Given the description of an element on the screen output the (x, y) to click on. 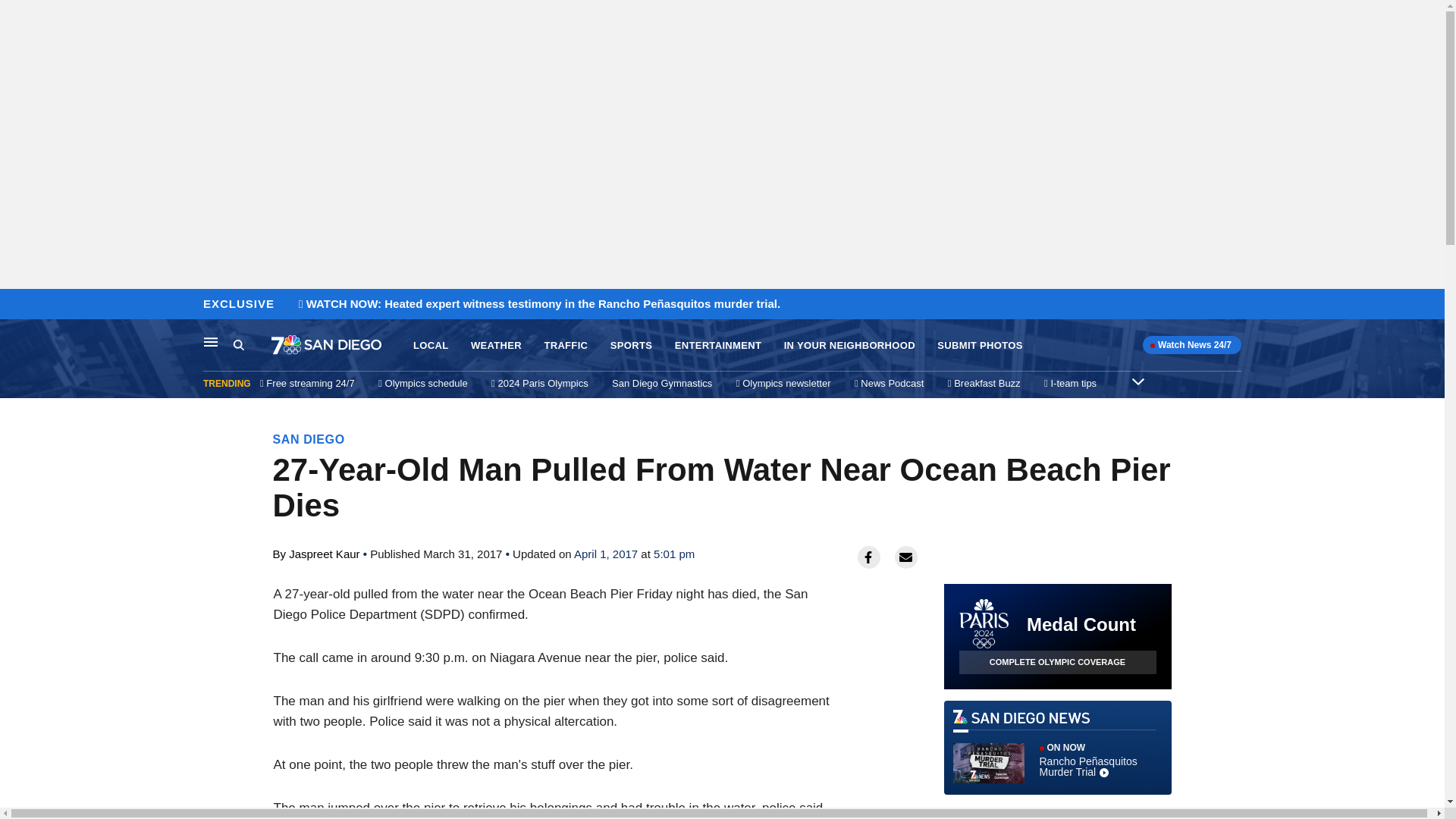
IN YOUR NEIGHBORHOOD (849, 345)
Search (252, 345)
SUBMIT PHOTOS (979, 345)
WEATHER (495, 345)
TRAFFIC (565, 345)
Expand (1138, 381)
SPORTS (631, 345)
LOCAL (430, 345)
San Diego Gymnastics (661, 383)
Skip to content (16, 304)
